Given the description of an element on the screen output the (x, y) to click on. 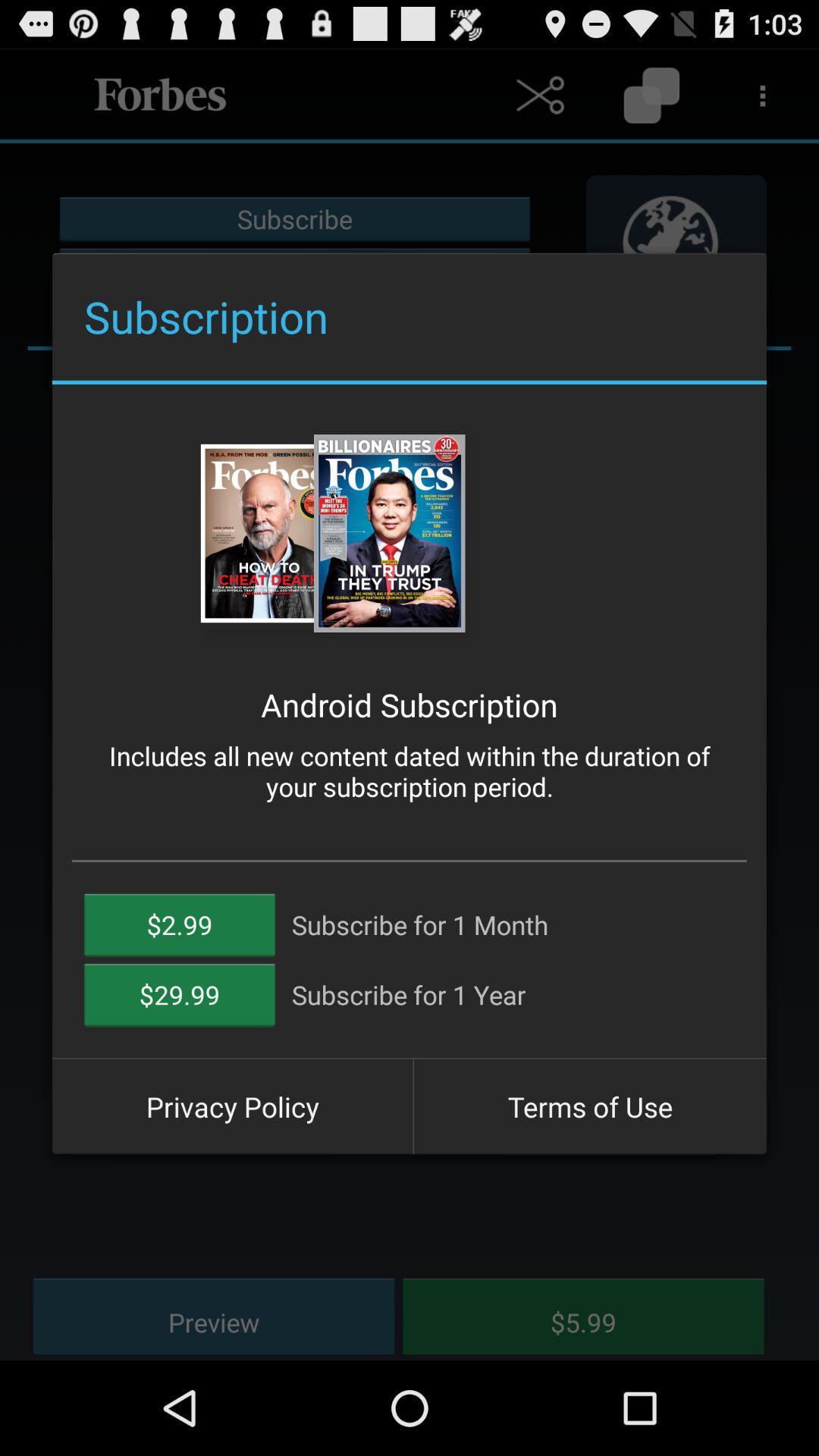
open the item below the $29.99 icon (232, 1106)
